Given the description of an element on the screen output the (x, y) to click on. 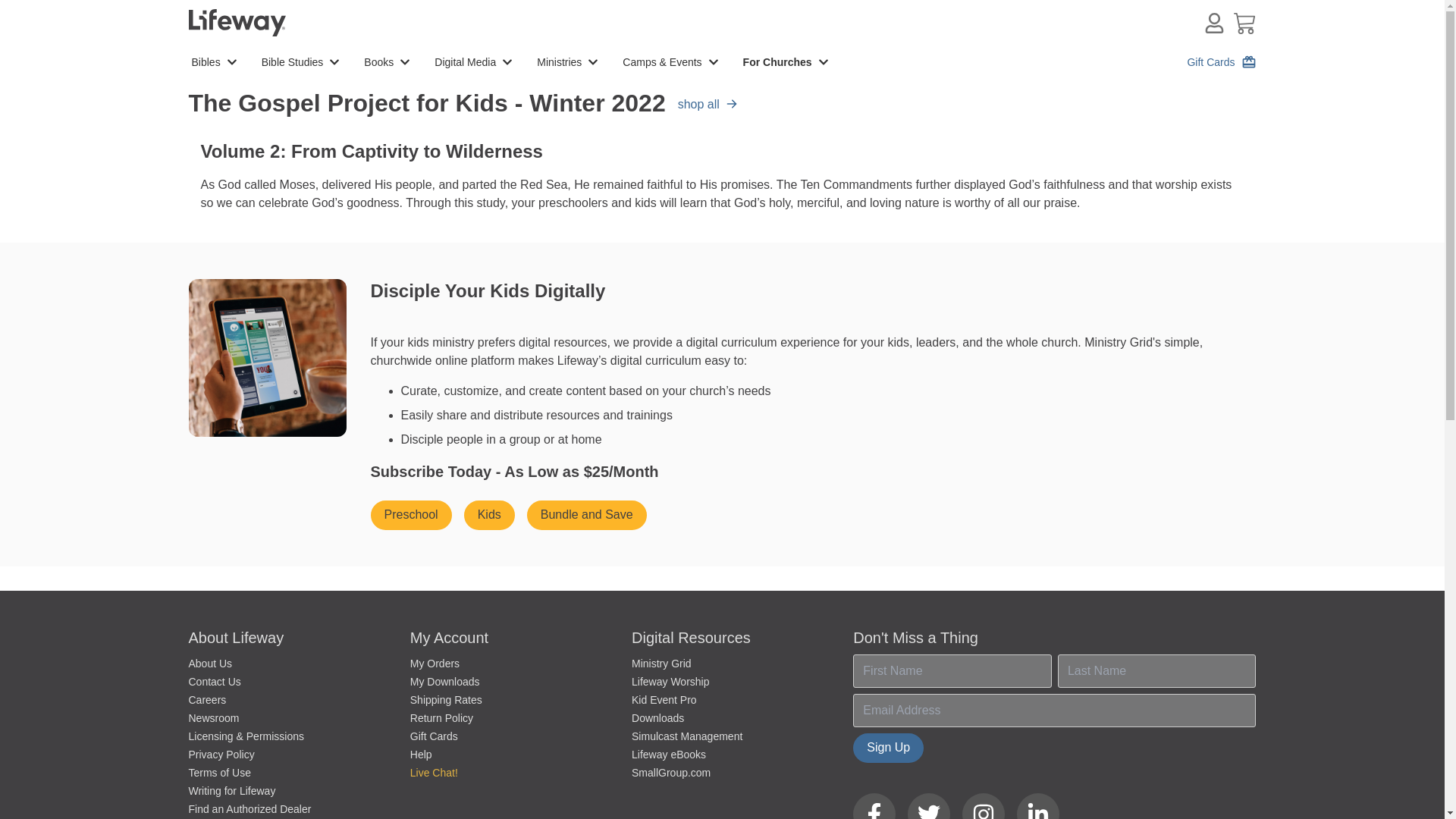
Bundle and Save (586, 514)
Kid Event Pro (664, 699)
Newsroom (212, 717)
Contact Us (213, 681)
Digital Media (476, 61)
Careers (206, 699)
About Us (209, 663)
My Downloads (445, 681)
Bibles (216, 61)
Gift Cards (434, 736)
